Given the description of an element on the screen output the (x, y) to click on. 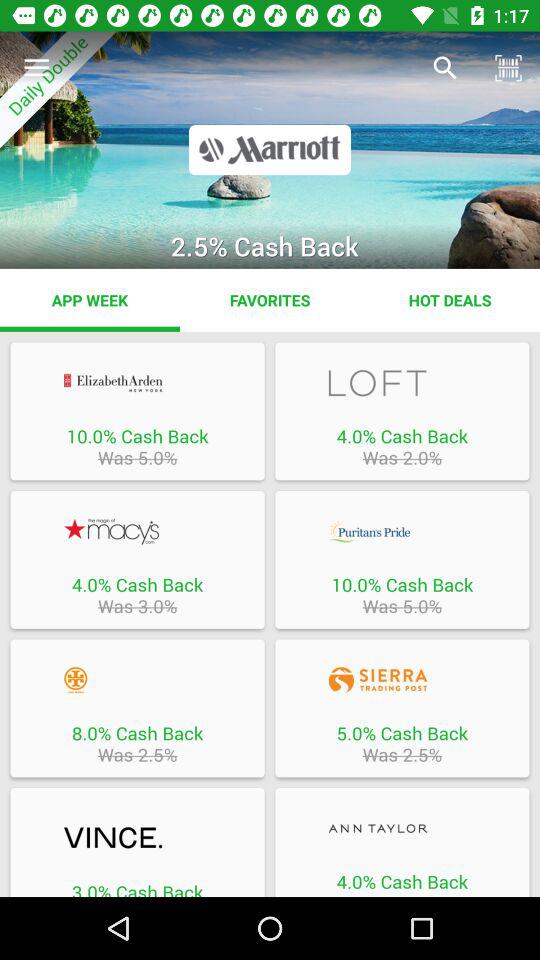
access website (402, 828)
